Given the description of an element on the screen output the (x, y) to click on. 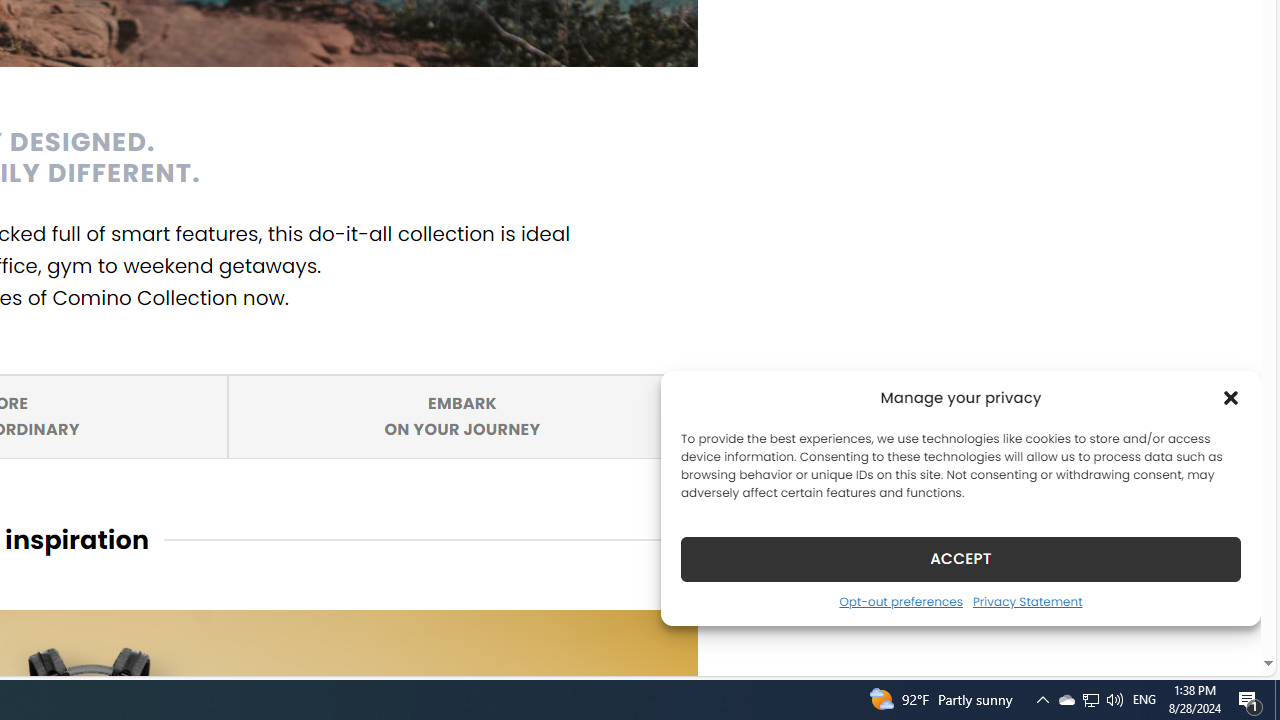
ACCEPT (960, 558)
Class: cmplz-close (1231, 397)
EMBARK ON YOUR JOURNEY (461, 415)
Opt-out preferences (900, 601)
Privacy Statement (1026, 601)
